Given the description of an element on the screen output the (x, y) to click on. 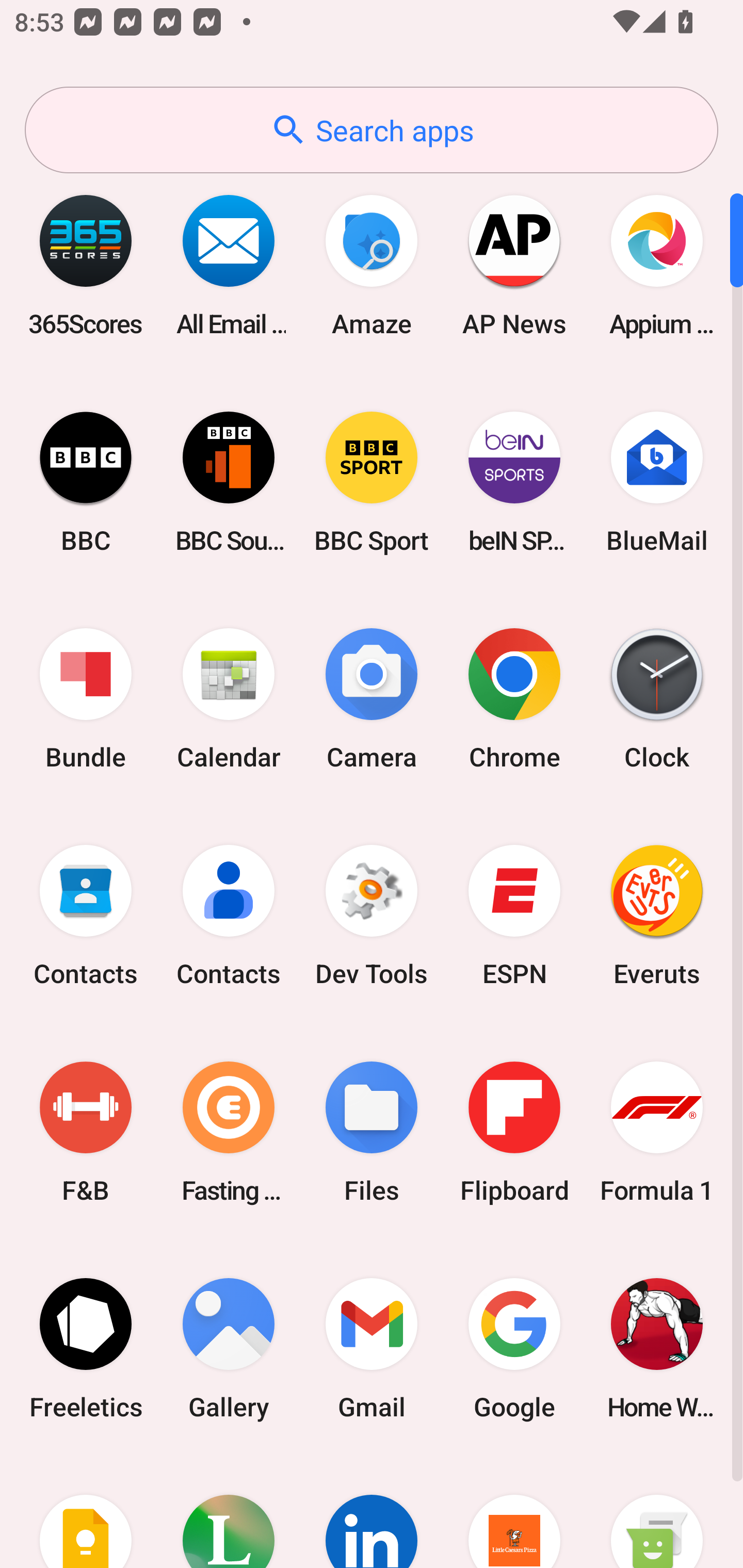
  Search apps (371, 130)
365Scores (85, 264)
All Email Connect (228, 264)
Amaze (371, 264)
AP News (514, 264)
Appium Settings (656, 264)
BBC (85, 482)
BBC Sounds (228, 482)
BBC Sport (371, 482)
beIN SPORTS (514, 482)
BlueMail (656, 482)
Bundle (85, 699)
Calendar (228, 699)
Camera (371, 699)
Chrome (514, 699)
Clock (656, 699)
Contacts (85, 915)
Contacts (228, 915)
Dev Tools (371, 915)
ESPN (514, 915)
Everuts (656, 915)
F&B (85, 1131)
Fasting Coach (228, 1131)
Files (371, 1131)
Flipboard (514, 1131)
Formula 1 (656, 1131)
Freeletics (85, 1348)
Gallery (228, 1348)
Gmail (371, 1348)
Google (514, 1348)
Home Workout (656, 1348)
Keep Notes (85, 1512)
Lifesum (228, 1512)
LinkedIn (371, 1512)
Little Caesars Pizza (514, 1512)
Messaging (656, 1512)
